Given the description of an element on the screen output the (x, y) to click on. 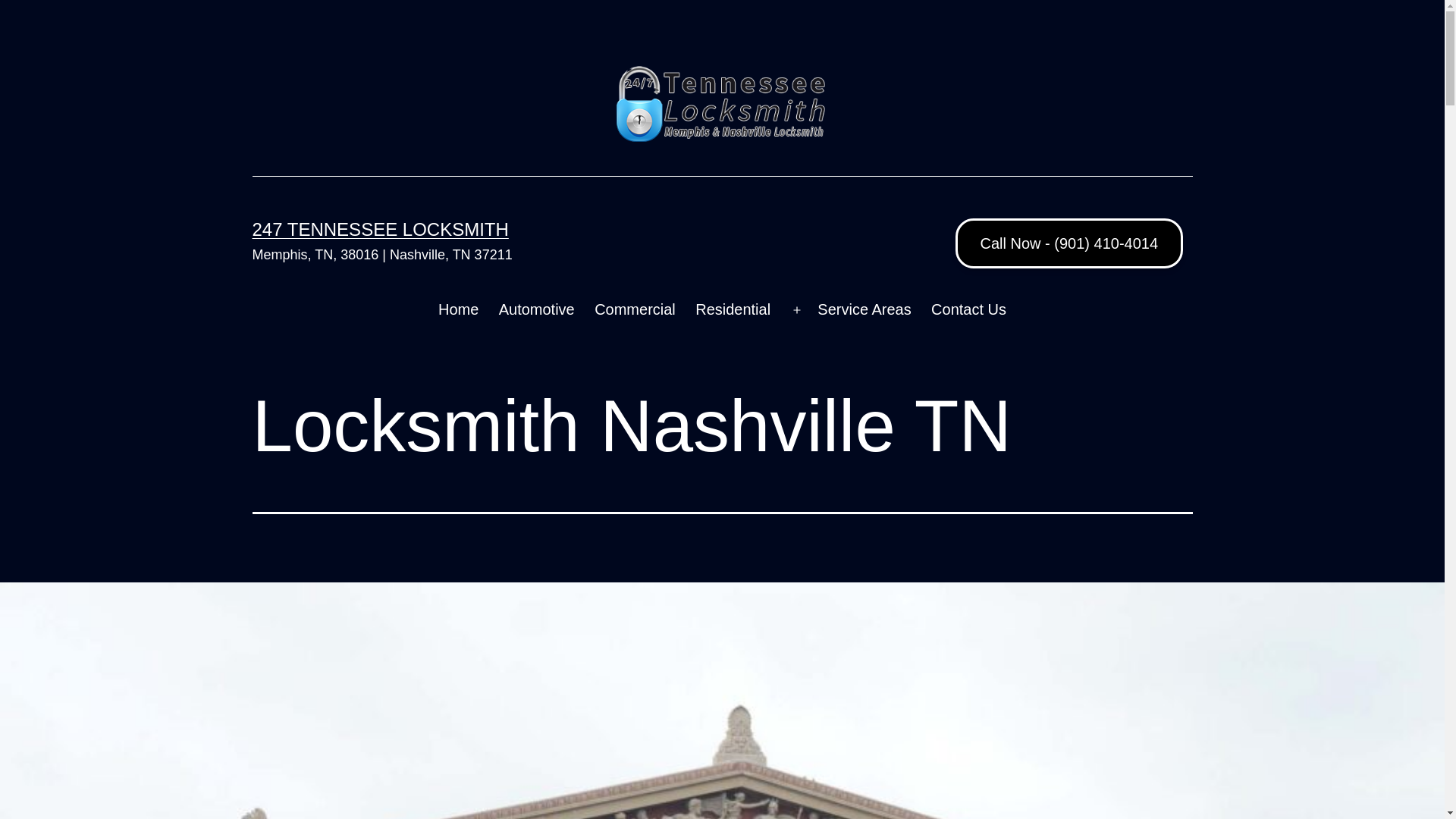
Service Areas Element type: text (864, 310)
Call Now - (901) 410-4014 Element type: text (1069, 243)
Commercial Element type: text (634, 310)
Automotive Element type: text (535, 310)
Residential Element type: text (732, 310)
247 TENNESSEE LOCKSMITH Element type: text (379, 229)
Open menu Element type: text (796, 310)
Home Element type: text (458, 310)
Contact Us Element type: text (968, 310)
